Given the description of an element on the screen output the (x, y) to click on. 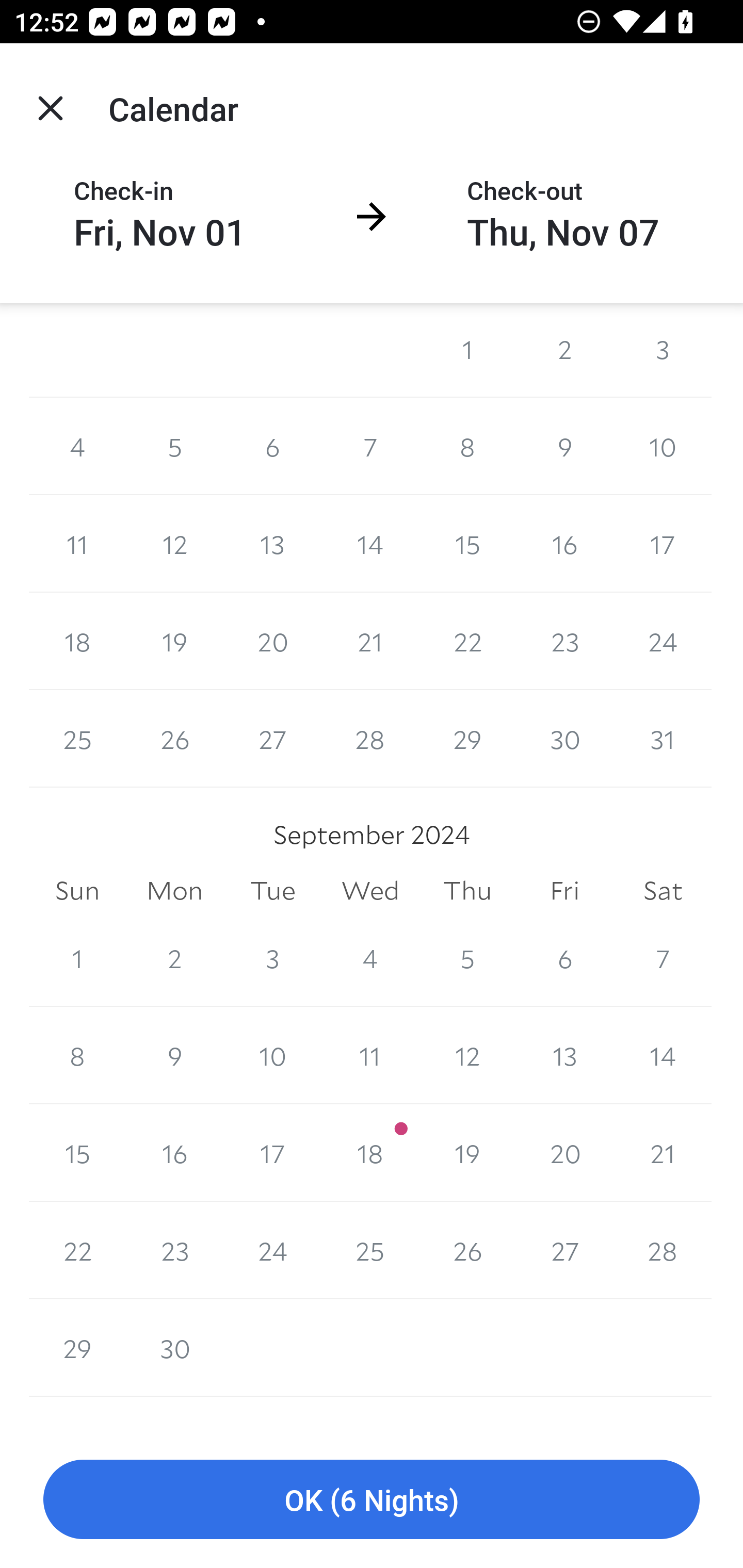
1 1 August 2024 (467, 350)
2 2 August 2024 (564, 350)
3 3 August 2024 (662, 350)
4 4 August 2024 (77, 446)
5 5 August 2024 (174, 446)
6 6 August 2024 (272, 446)
7 7 August 2024 (370, 446)
8 8 August 2024 (467, 446)
9 9 August 2024 (564, 446)
10 10 August 2024 (662, 446)
11 11 August 2024 (77, 543)
12 12 August 2024 (174, 543)
13 13 August 2024 (272, 543)
14 14 August 2024 (370, 543)
15 15 August 2024 (467, 543)
16 16 August 2024 (564, 543)
17 17 August 2024 (662, 543)
18 18 August 2024 (77, 640)
19 19 August 2024 (174, 640)
20 20 August 2024 (272, 640)
21 21 August 2024 (370, 640)
22 22 August 2024 (467, 640)
23 23 August 2024 (564, 640)
24 24 August 2024 (662, 640)
25 25 August 2024 (77, 738)
26 26 August 2024 (174, 738)
27 27 August 2024 (272, 738)
28 28 August 2024 (370, 738)
29 29 August 2024 (467, 738)
30 30 August 2024 (564, 738)
31 31 August 2024 (662, 738)
Sun (77, 890)
Mon (174, 890)
Tue (272, 890)
Wed (370, 890)
Thu (467, 890)
Fri (564, 890)
Sat (662, 890)
1 1 September 2024 (77, 957)
2 2 September 2024 (174, 957)
3 3 September 2024 (272, 957)
4 4 September 2024 (370, 957)
5 5 September 2024 (467, 957)
6 6 September 2024 (564, 957)
7 7 September 2024 (662, 957)
8 8 September 2024 (77, 1054)
9 9 September 2024 (174, 1054)
10 10 September 2024 (272, 1054)
11 11 September 2024 (370, 1054)
12 12 September 2024 (467, 1054)
13 13 September 2024 (564, 1054)
14 14 September 2024 (662, 1054)
15 15 September 2024 (77, 1152)
16 16 September 2024 (174, 1152)
17 17 September 2024 (272, 1152)
18 18 September 2024 (370, 1152)
19 19 September 2024 (467, 1152)
20 20 September 2024 (564, 1152)
21 21 September 2024 (662, 1152)
22 22 September 2024 (77, 1250)
23 23 September 2024 (174, 1250)
24 24 September 2024 (272, 1250)
25 25 September 2024 (370, 1250)
26 26 September 2024 (467, 1250)
27 27 September 2024 (564, 1250)
28 28 September 2024 (662, 1250)
29 29 September 2024 (77, 1348)
30 30 September 2024 (174, 1348)
OK (6 Nights) (371, 1499)
